Given the description of an element on the screen output the (x, y) to click on. 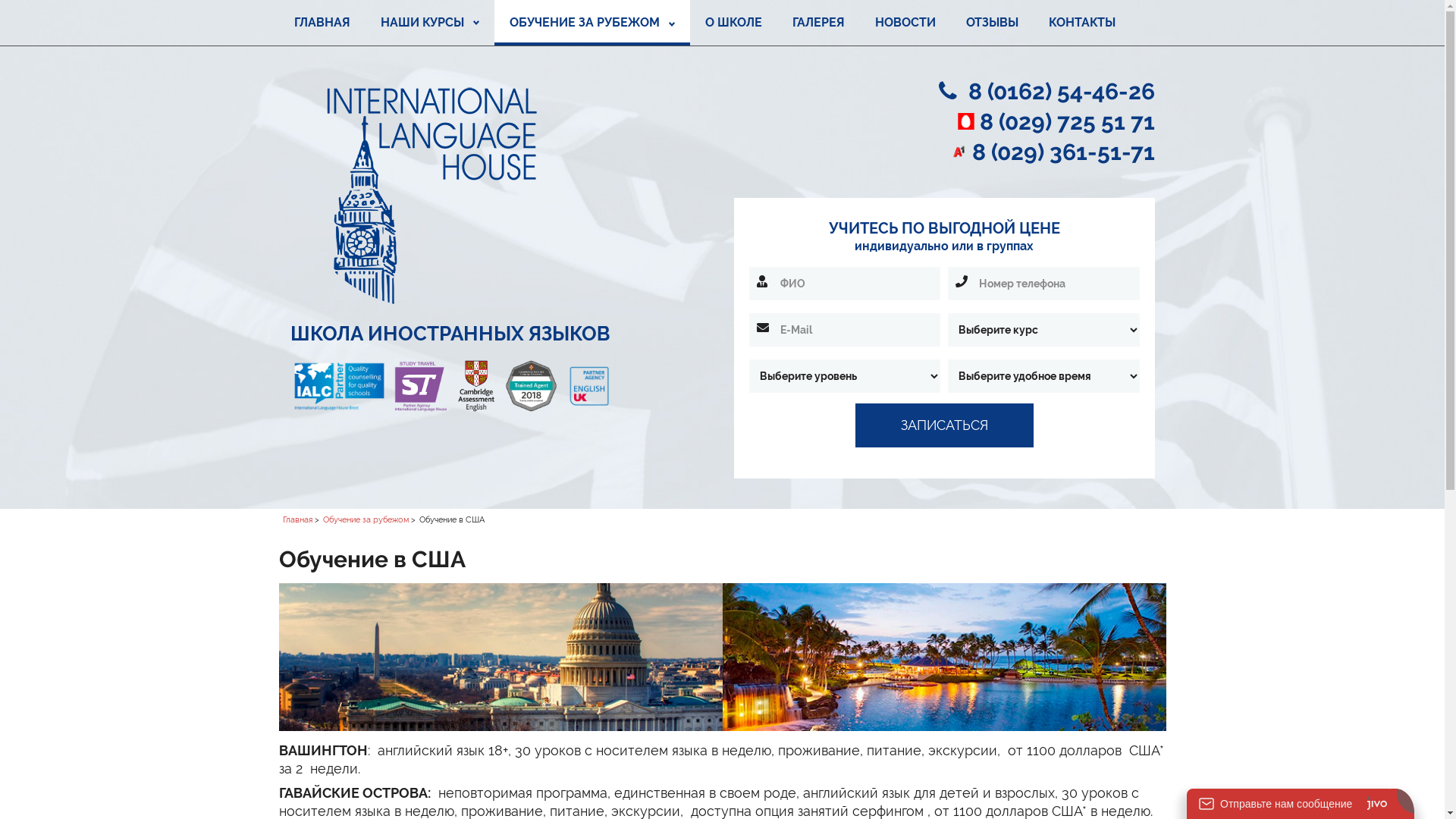
8 (029) 725 51 71 Element type: text (1066, 121)
8 (0162) 54-46-26 Element type: text (1060, 91)
8 (029) 361-51-71 Element type: text (1063, 151)
